Given the description of an element on the screen output the (x, y) to click on. 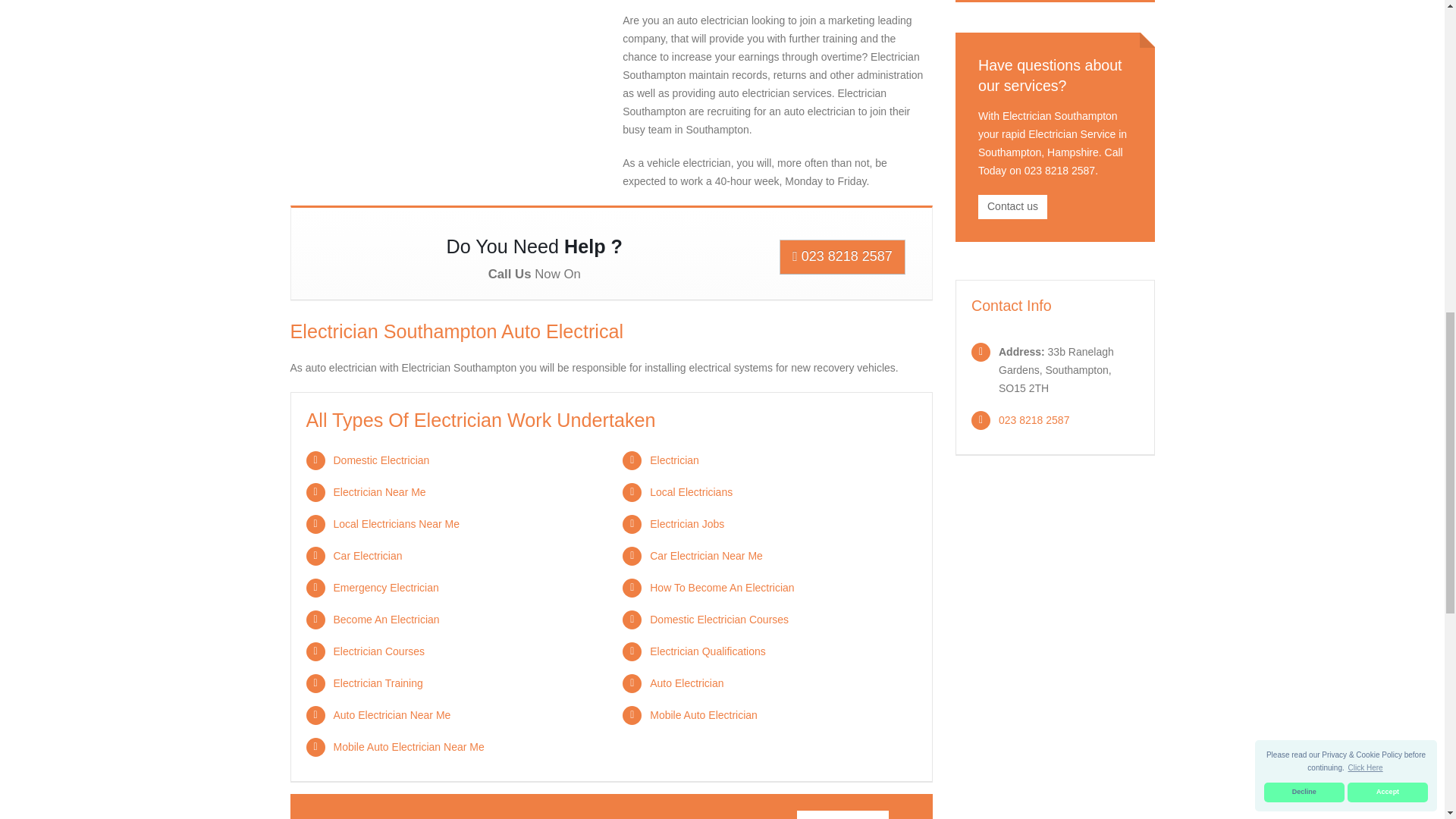
Car Electrician (368, 555)
Emergency Electrician (386, 587)
Become An Electrician (386, 619)
Domestic Electrician (381, 460)
Electrician Near Me (379, 491)
Electrician Courses (379, 651)
023 8218 2587 (841, 256)
Local Electricians Near Me (396, 523)
